Given the description of an element on the screen output the (x, y) to click on. 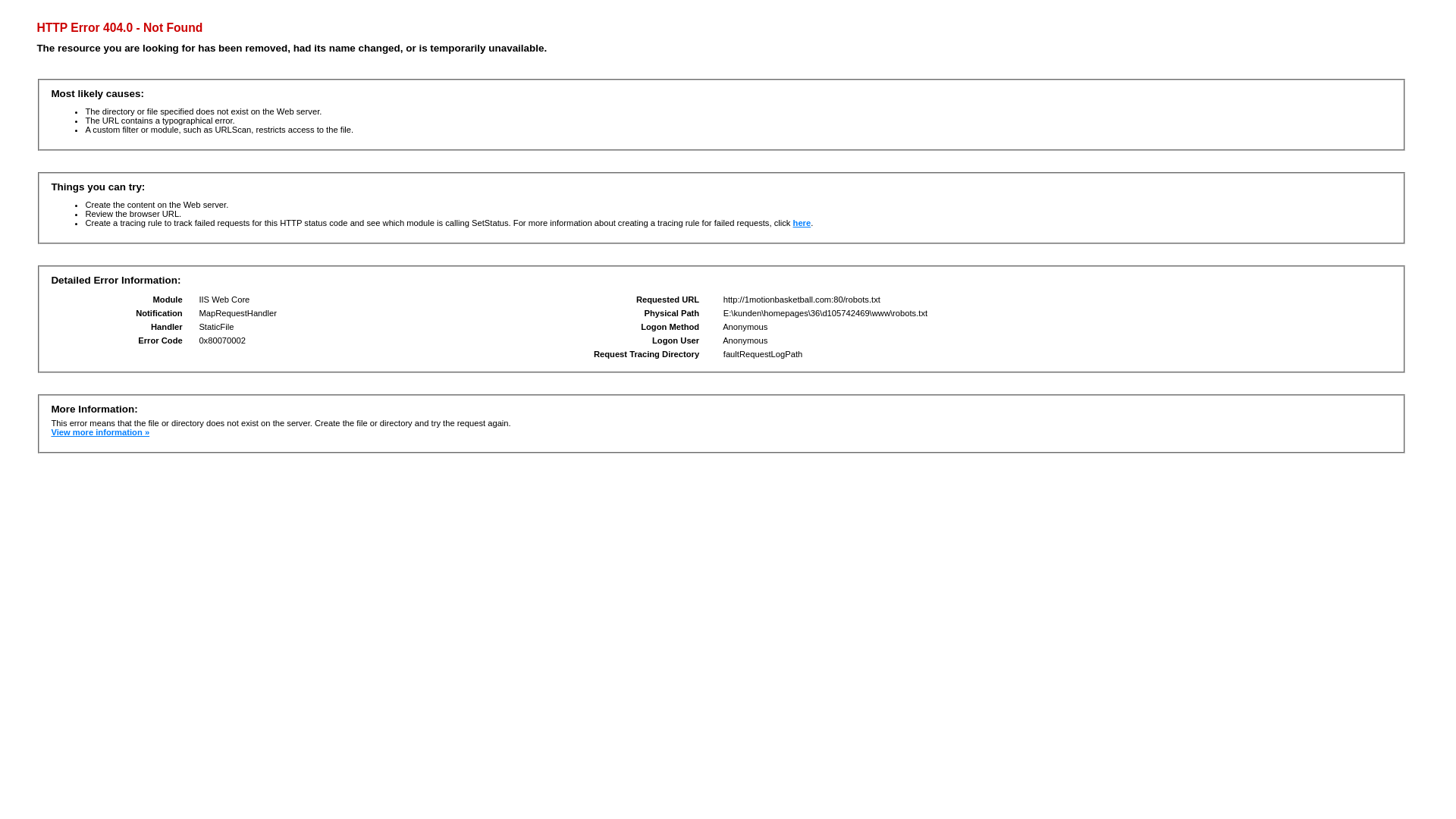
here Element type: text (802, 222)
